Given the description of an element on the screen output the (x, y) to click on. 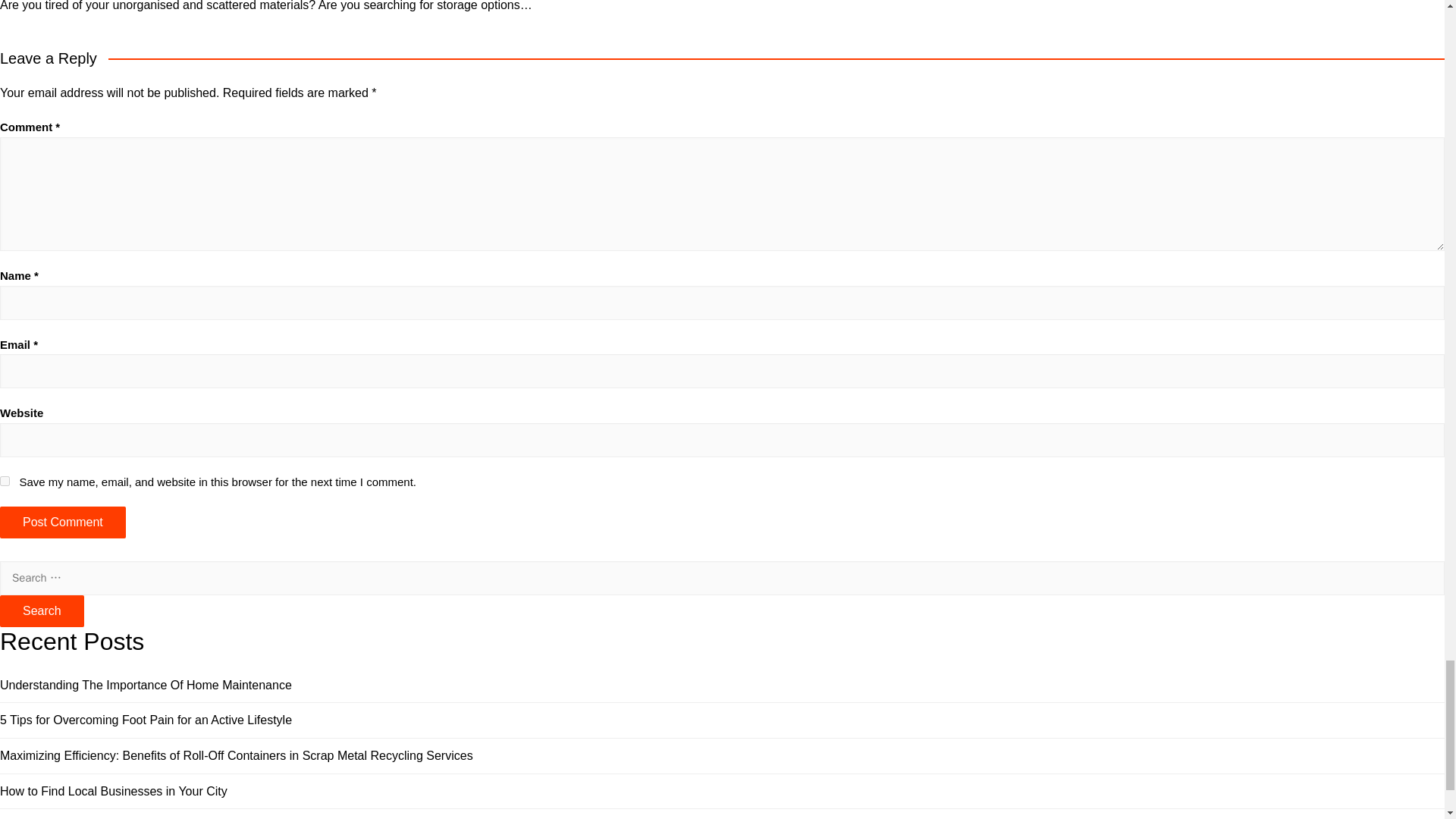
Search (42, 611)
Post Comment (62, 522)
yes (5, 480)
Search (42, 611)
Post Comment (62, 522)
